Given the description of an element on the screen output the (x, y) to click on. 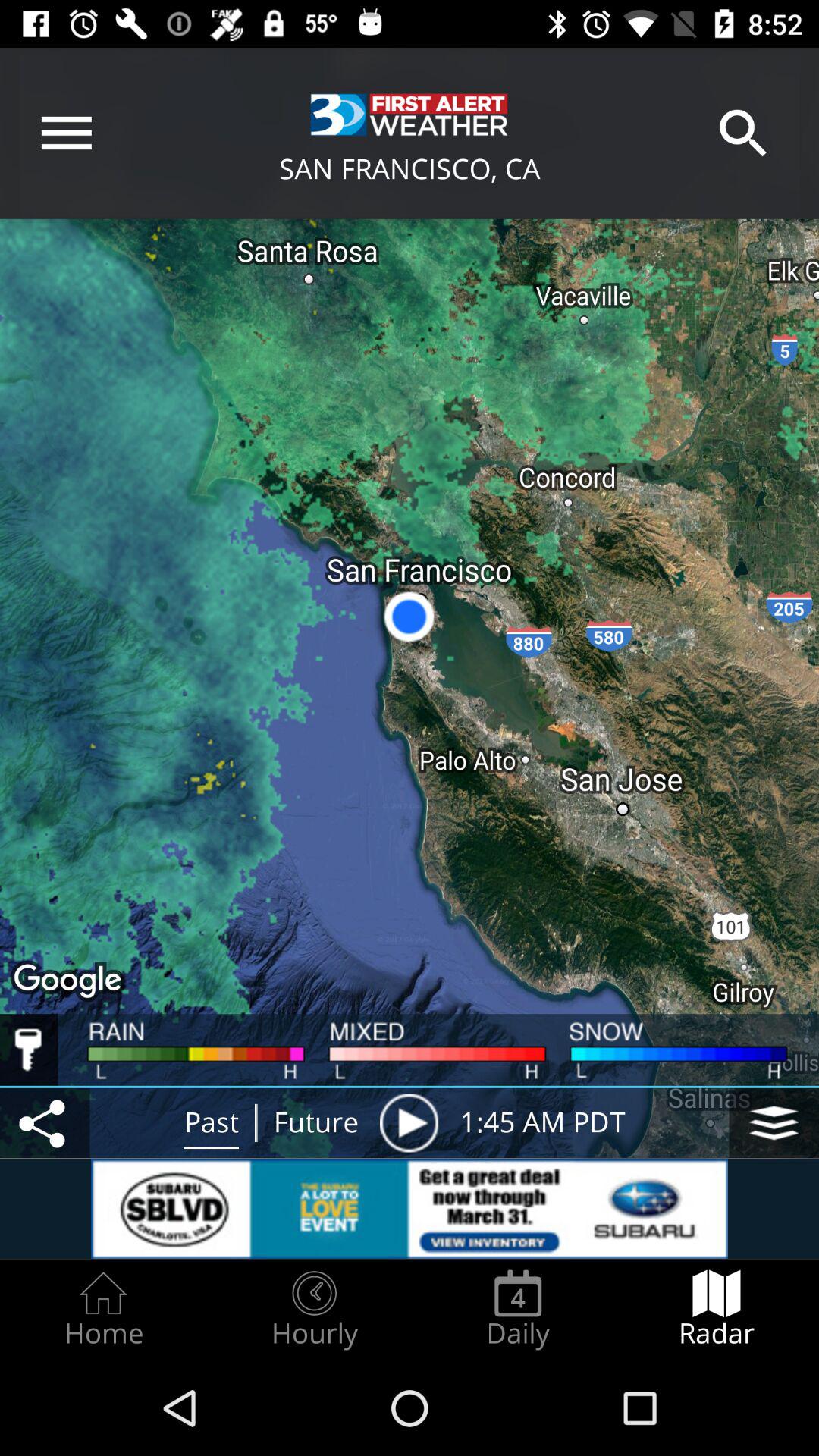
open subaru advertisement (409, 1208)
